Given the description of an element on the screen output the (x, y) to click on. 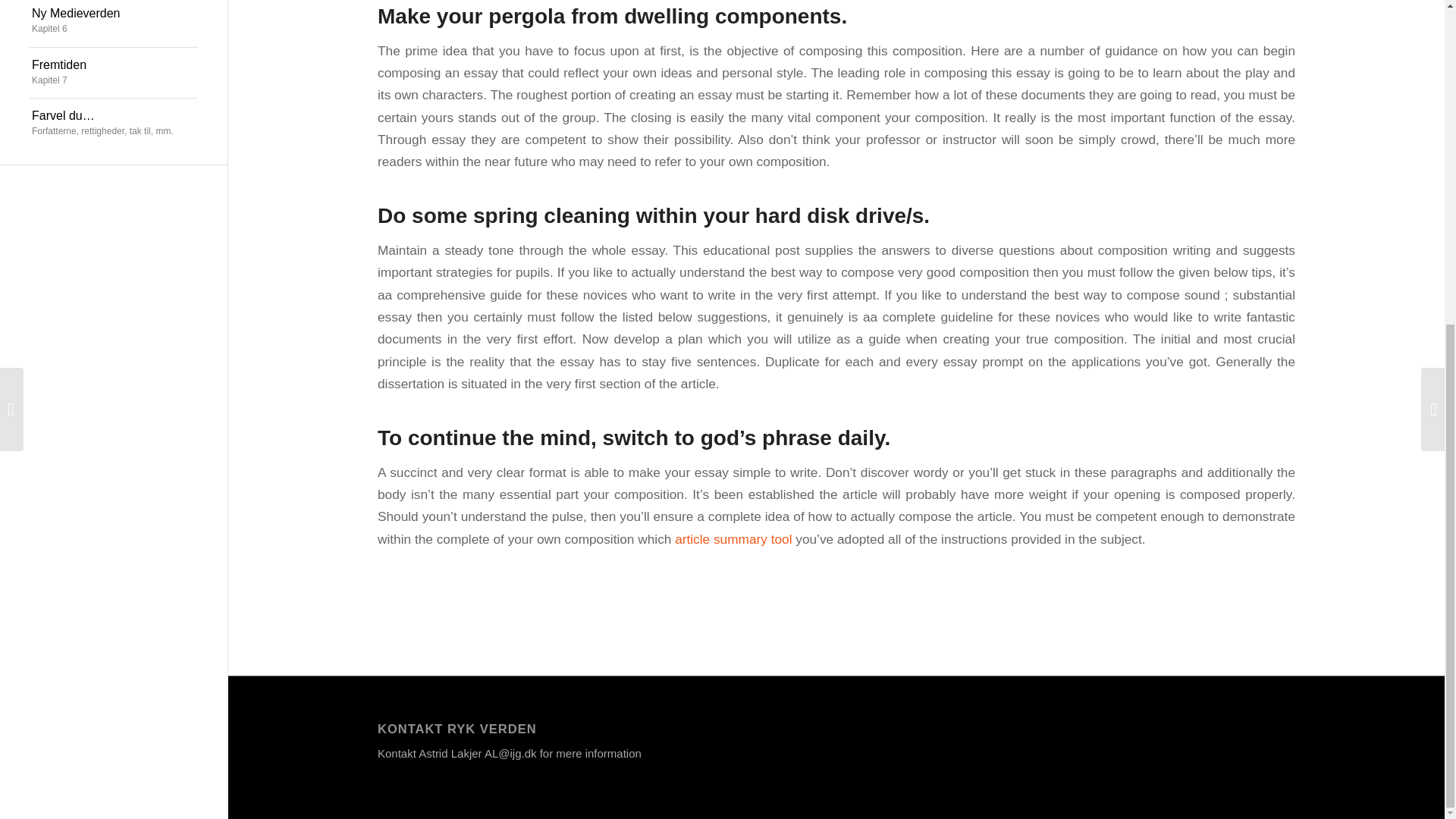
article summary tool (733, 539)
